Given the description of an element on the screen output the (x, y) to click on. 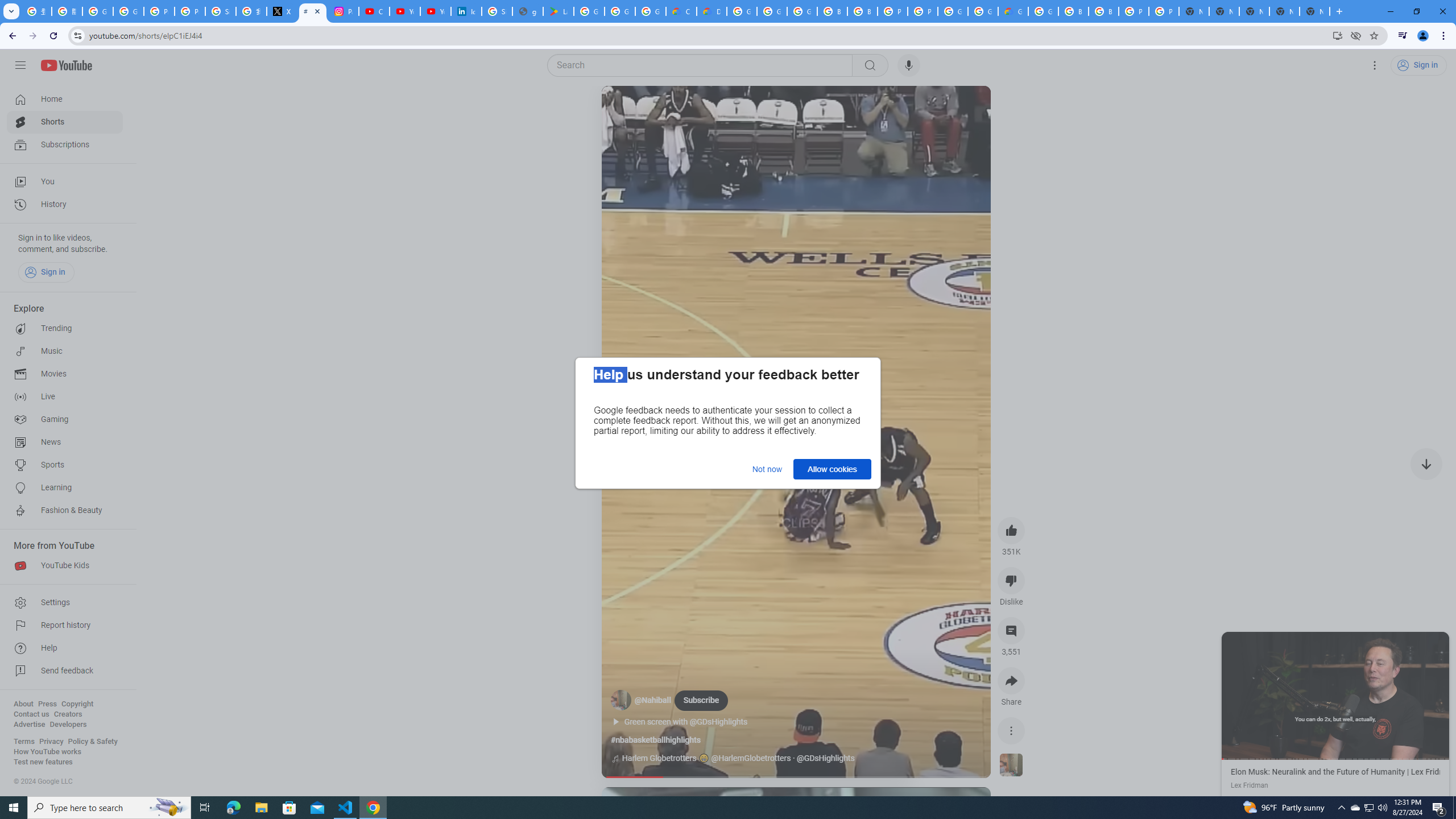
Privacy Help Center - Policies Help (189, 11)
YouTube Home (66, 65)
More actions (1011, 730)
Google Workspace - Specific Terms (650, 11)
music icon (615, 758)
Learning (64, 487)
Seek slider (796, 776)
Gaming (64, 419)
